Given the description of an element on the screen output the (x, y) to click on. 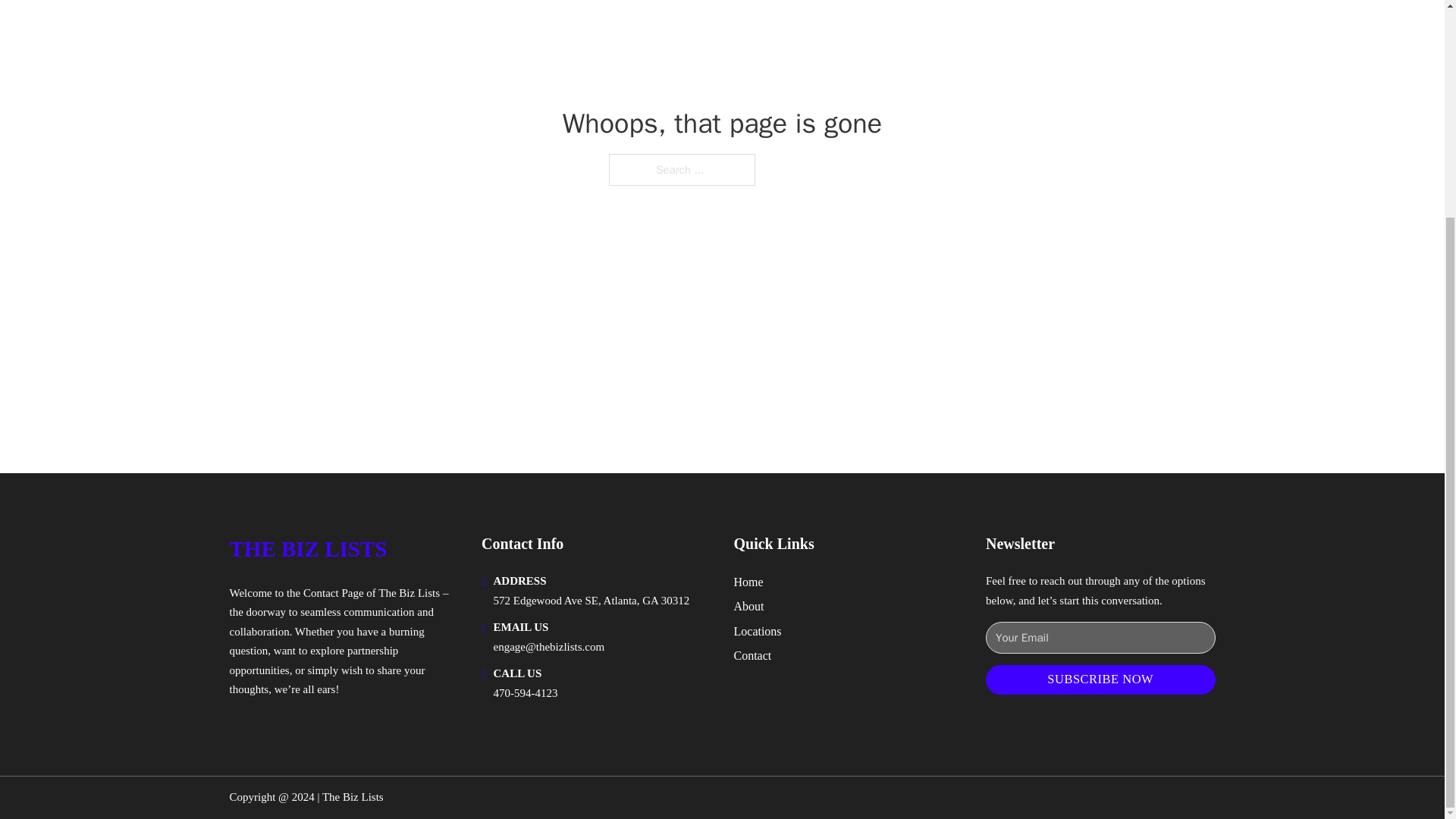
THE BIZ LISTS (307, 549)
SUBSCRIBE NOW (1100, 679)
About (748, 606)
Home (747, 581)
Contact (752, 655)
Locations (757, 630)
470-594-4123 (525, 693)
